Given the description of an element on the screen output the (x, y) to click on. 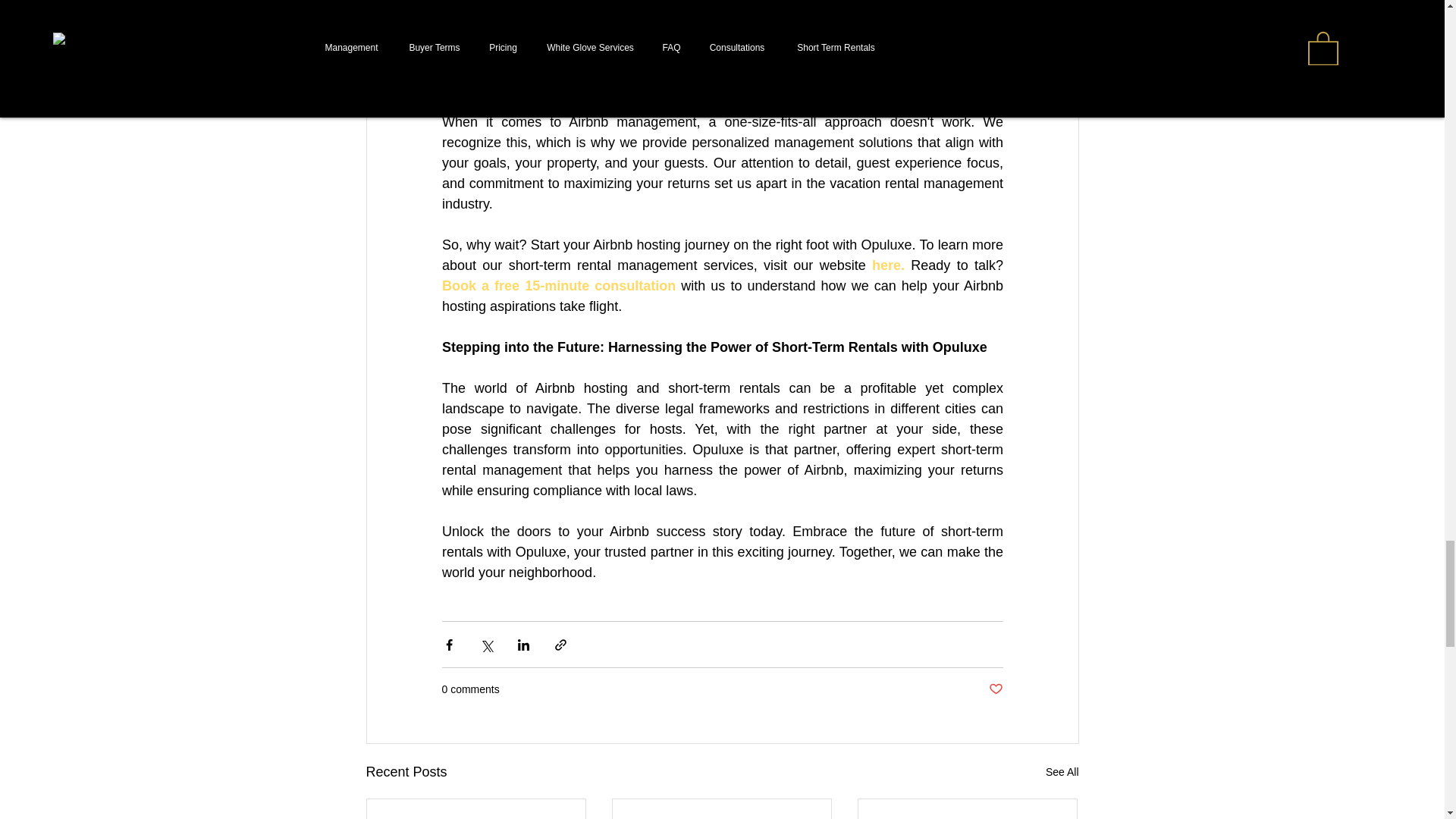
here (884, 264)
Post not marked as liked (995, 689)
See All (1061, 771)
Book a free 15-minute consultation (558, 285)
